Given the description of an element on the screen output the (x, y) to click on. 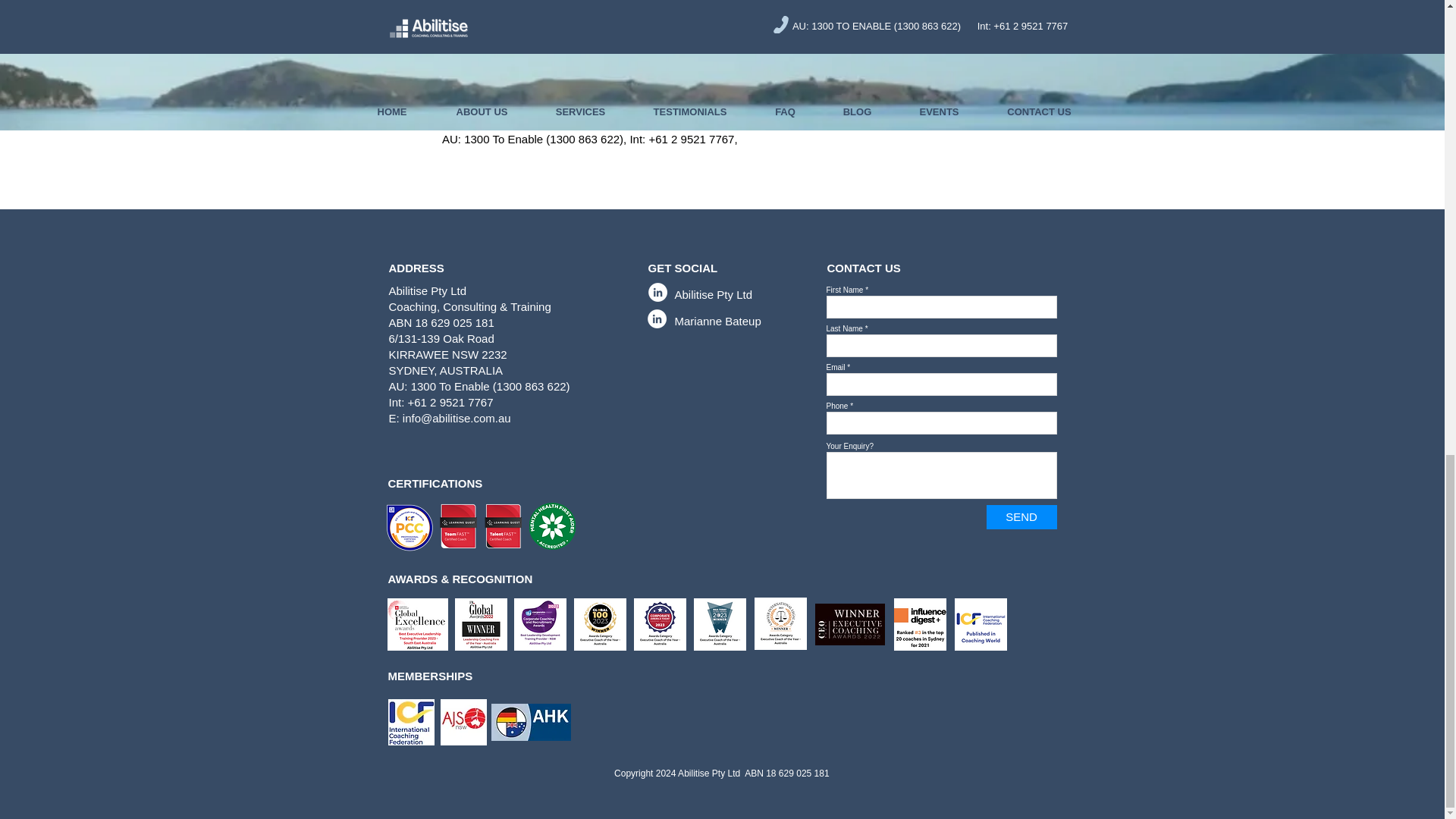
SEND (1021, 517)
